Given the description of an element on the screen output the (x, y) to click on. 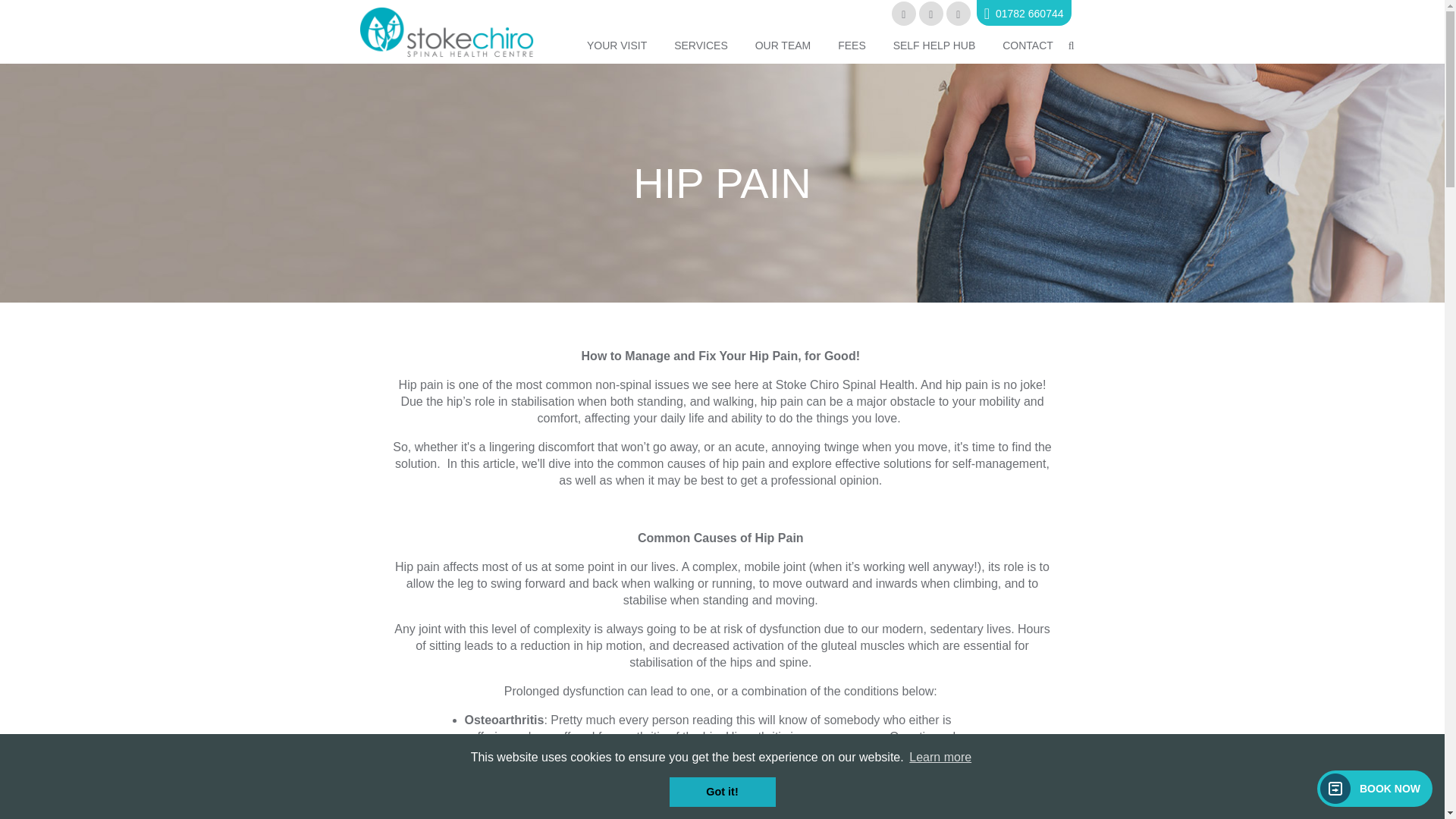
FEES (851, 45)
SERVICES (700, 45)
YOUR VISIT (617, 45)
SELF HELP HUB (934, 45)
OUR TEAM (783, 45)
BOOK NOW (1374, 788)
CONTACT (1027, 45)
Got it! (721, 791)
Learn more (940, 757)
01782 660744 (1024, 13)
